Given the description of an element on the screen output the (x, y) to click on. 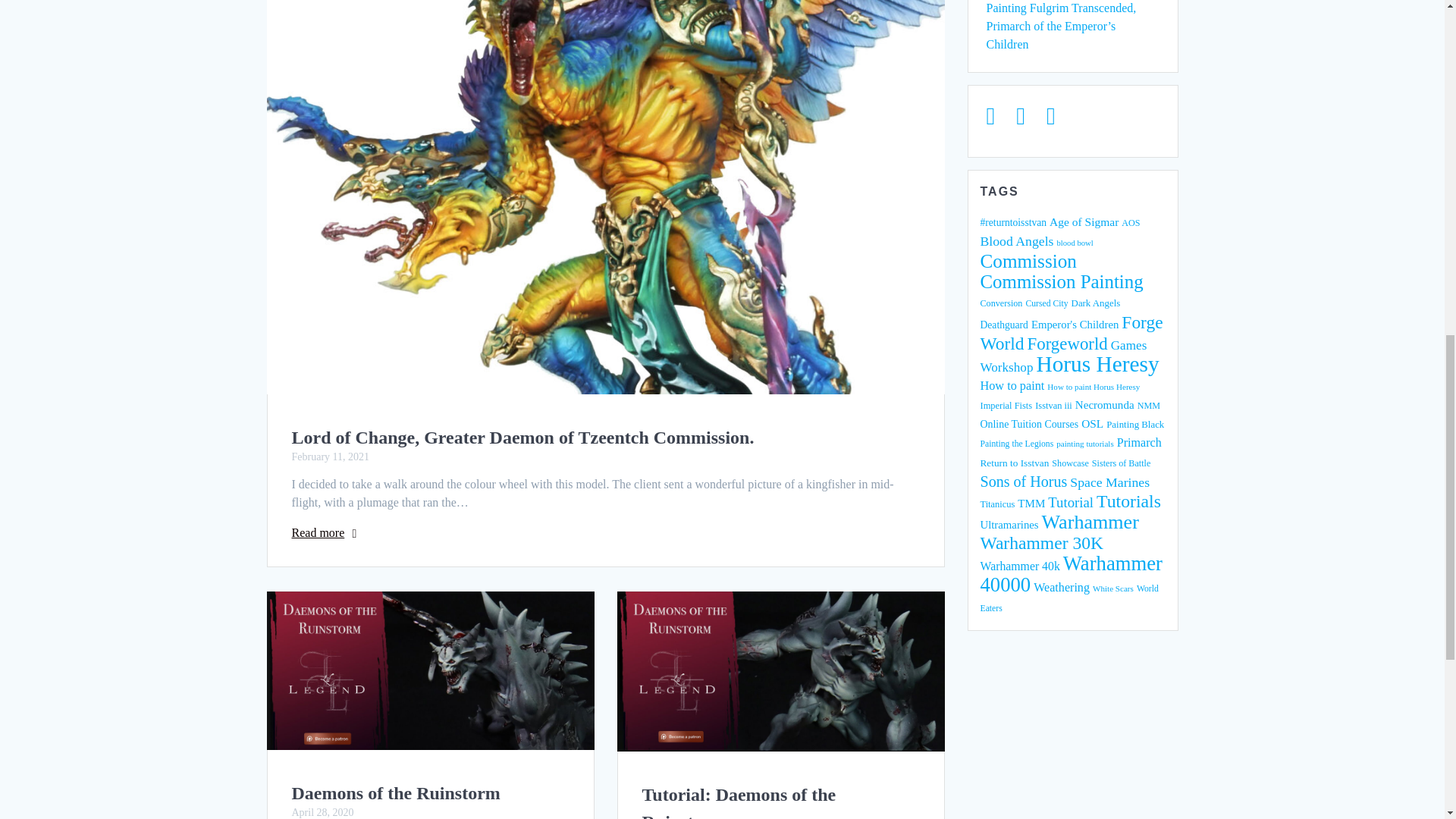
AOS (1130, 222)
Daemons of the Ruinstorm (395, 792)
Read more (317, 533)
Tutorial: Daemons of the Ruinstorm (738, 801)
Commission Painting (1060, 281)
Commission (1027, 260)
Lord of Change, Greater Daemon of Tzeentch Commission. (522, 437)
blood bowl (1075, 243)
Age of Sigmar (1083, 221)
Blood Angels (1015, 240)
